Given the description of an element on the screen output the (x, y) to click on. 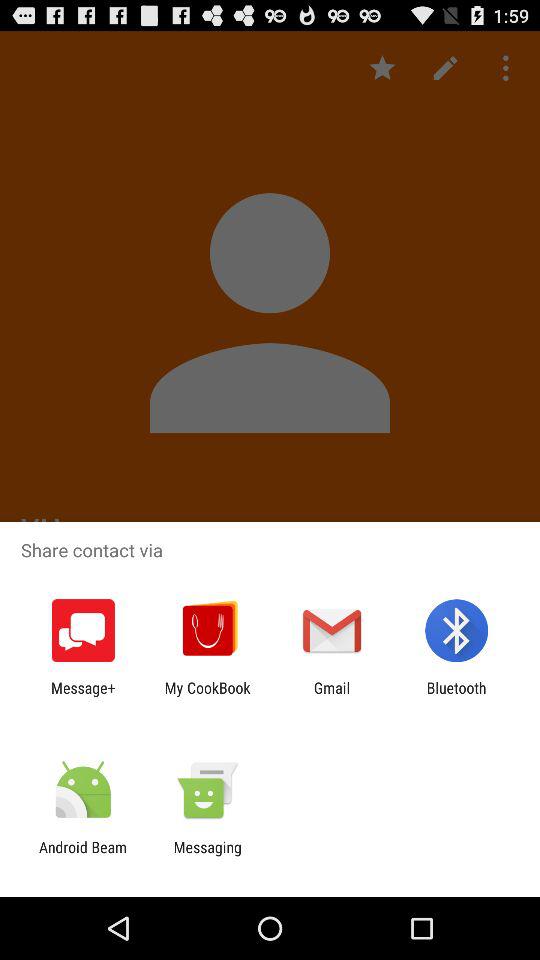
scroll to the gmail icon (331, 696)
